Given the description of an element on the screen output the (x, y) to click on. 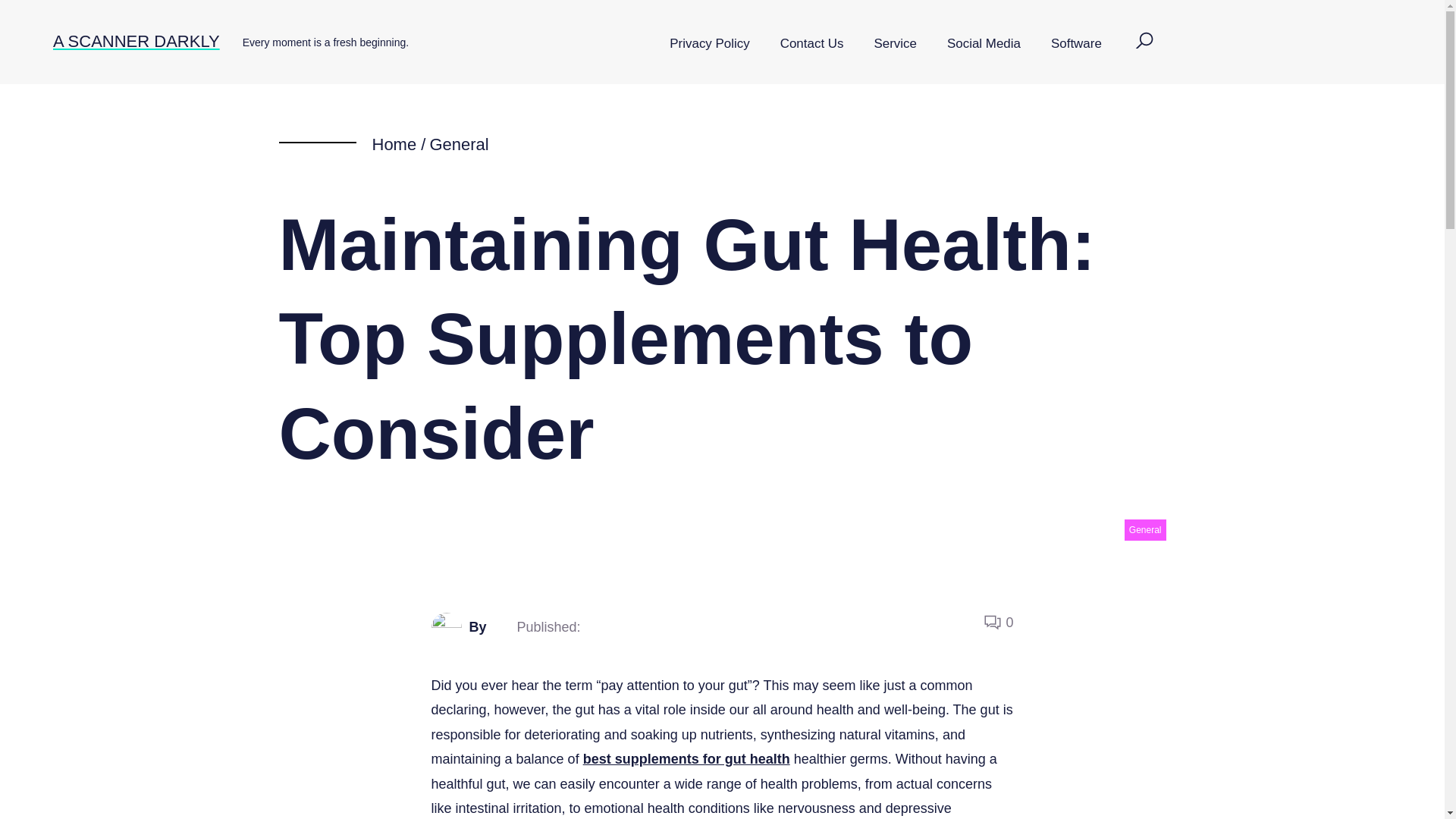
Contact Us (812, 43)
Social Media (983, 43)
Service (895, 43)
Home (393, 144)
General (458, 144)
General (1145, 529)
Software (1075, 43)
best supplements for gut health (686, 758)
Privacy Policy (708, 43)
A SCANNER DARKLY (135, 40)
